Given the description of an element on the screen output the (x, y) to click on. 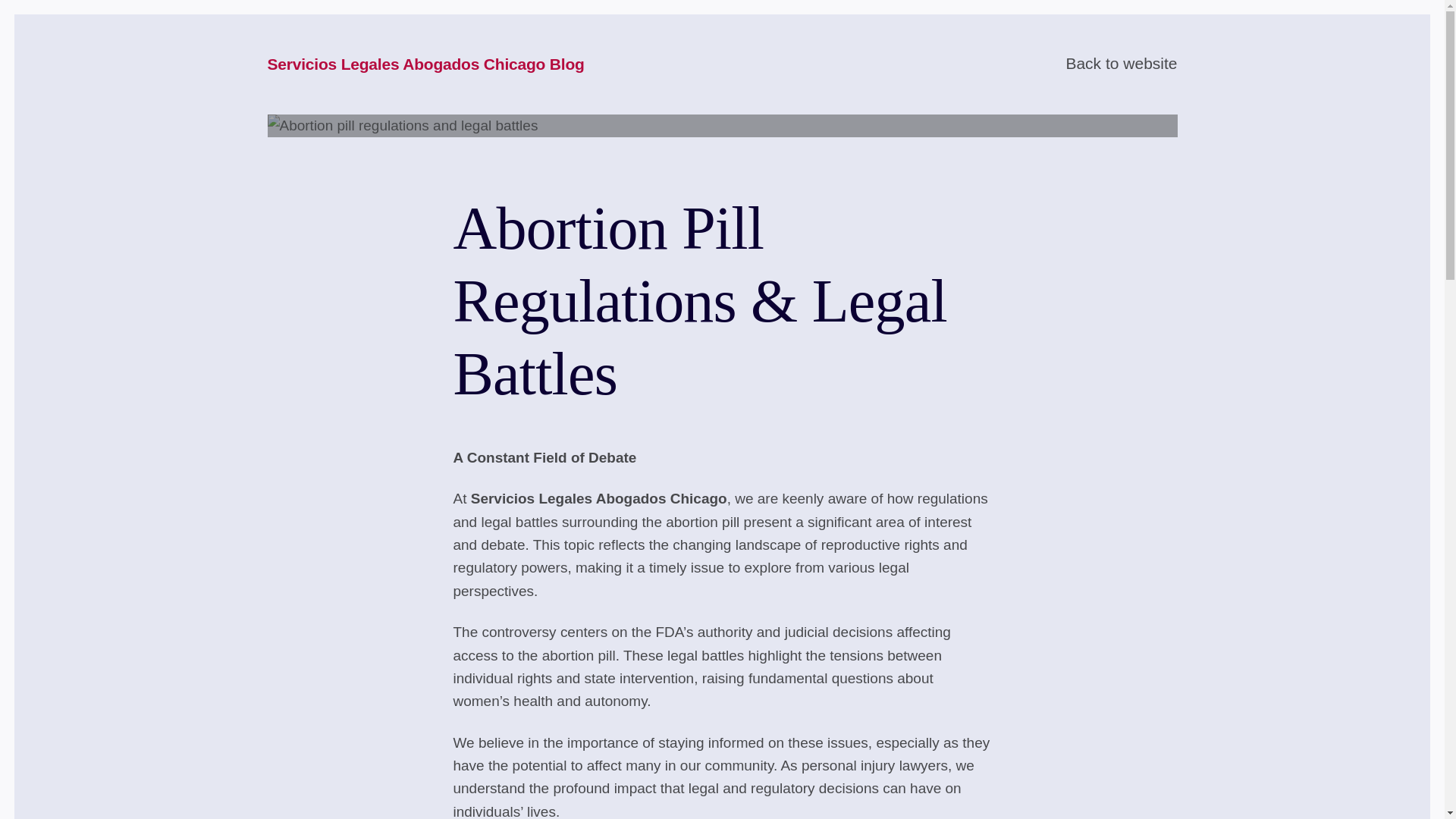
Servicios Legales Abogados Chicago Blog (424, 64)
Back to website (1120, 63)
